Given the description of an element on the screen output the (x, y) to click on. 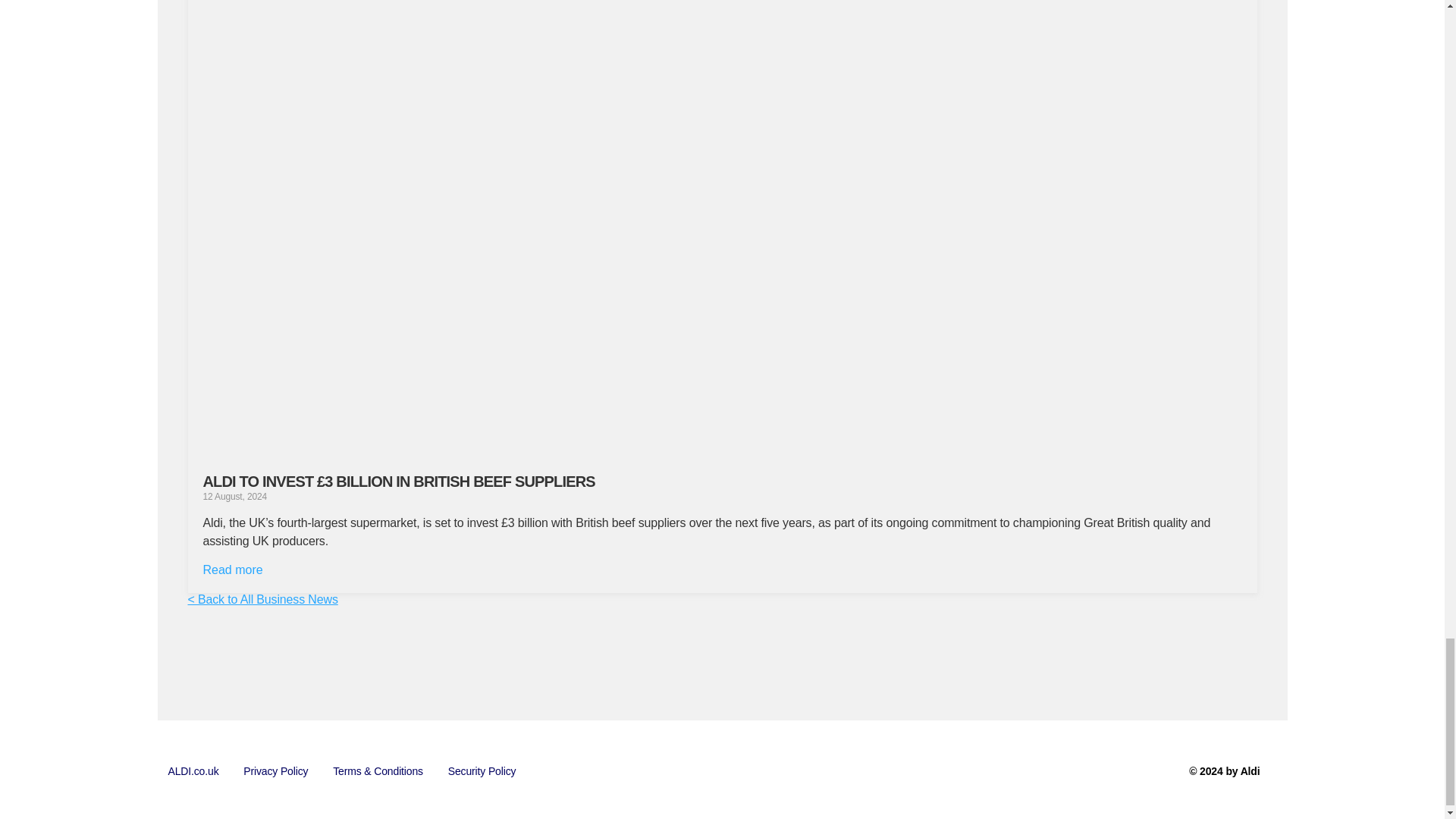
Privacy Policy (275, 771)
ALDI.co.uk (193, 771)
Security Policy (482, 771)
